Given the description of an element on the screen output the (x, y) to click on. 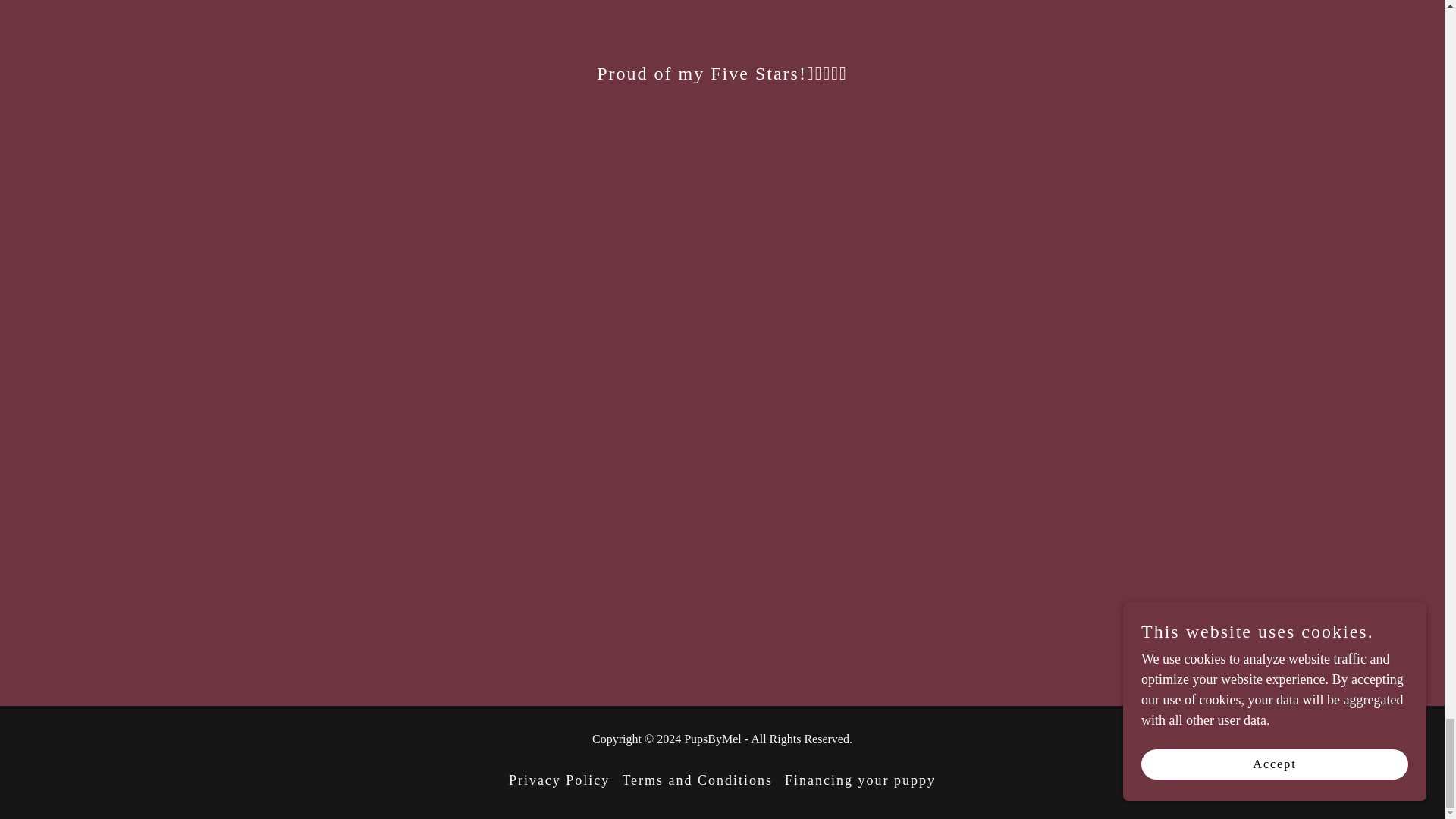
Privacy Policy (558, 780)
Terms and Conditions (696, 780)
Financing your puppy (860, 780)
